Given the description of an element on the screen output the (x, y) to click on. 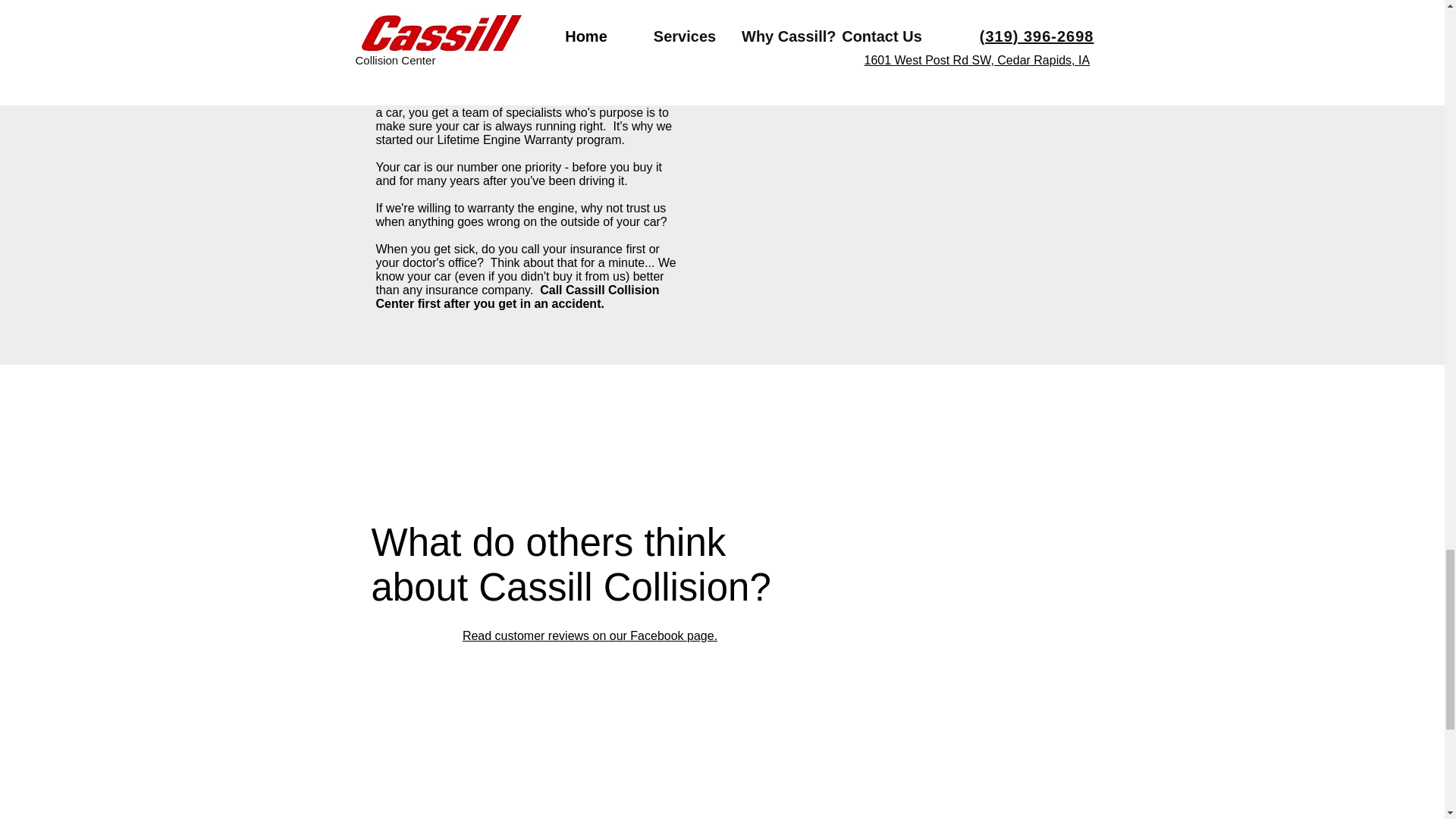
External YouTube (894, 46)
External YouTube (894, 227)
Read customer reviews on our Facebook page. (590, 635)
